Given the description of an element on the screen output the (x, y) to click on. 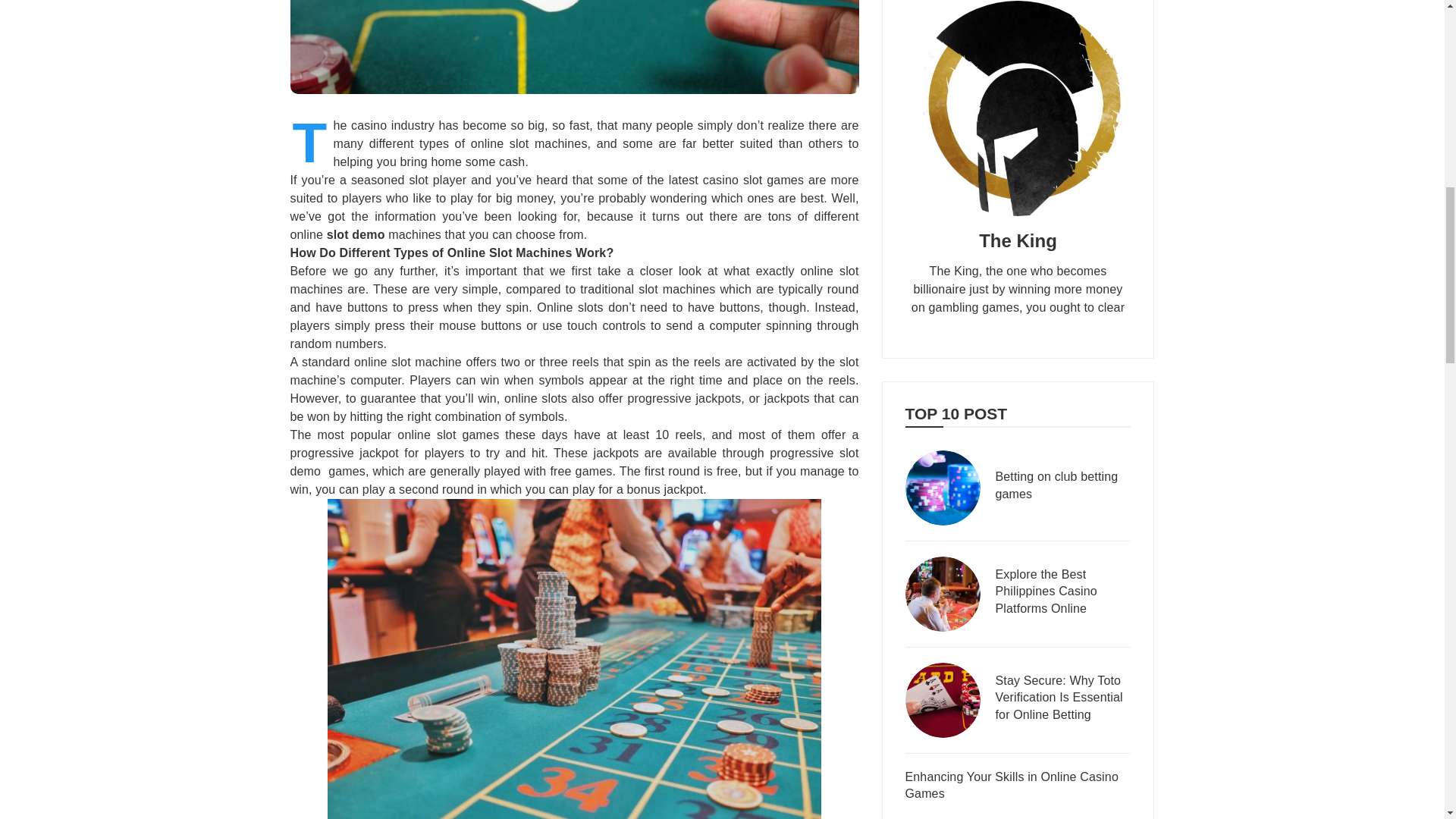
slot demo (355, 234)
Betting on club betting games (1062, 487)
Enhancing Your Skills in Online Casino Games (1018, 787)
Explore the Best Philippines Casino Platforms Online (1062, 593)
